Given the description of an element on the screen output the (x, y) to click on. 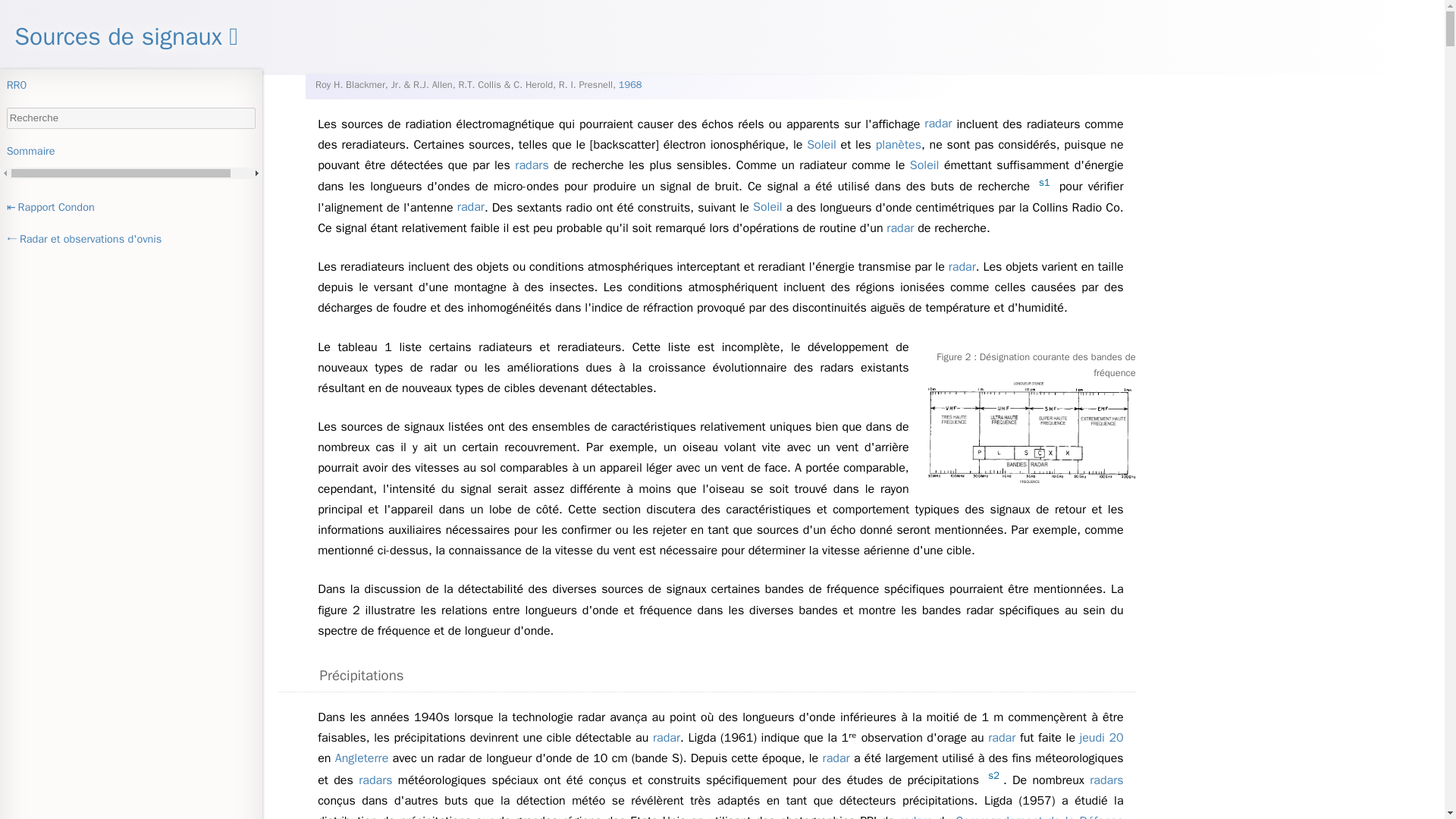
jeudi 20 (1100, 737)
Sources de signaux (125, 36)
radar (1001, 737)
radars (1106, 780)
Rapport Condon (130, 207)
Sommaire (130, 150)
radars (375, 780)
Soleil (821, 144)
Radar et observations d'ovnis (130, 238)
radars (531, 165)
